Given the description of an element on the screen output the (x, y) to click on. 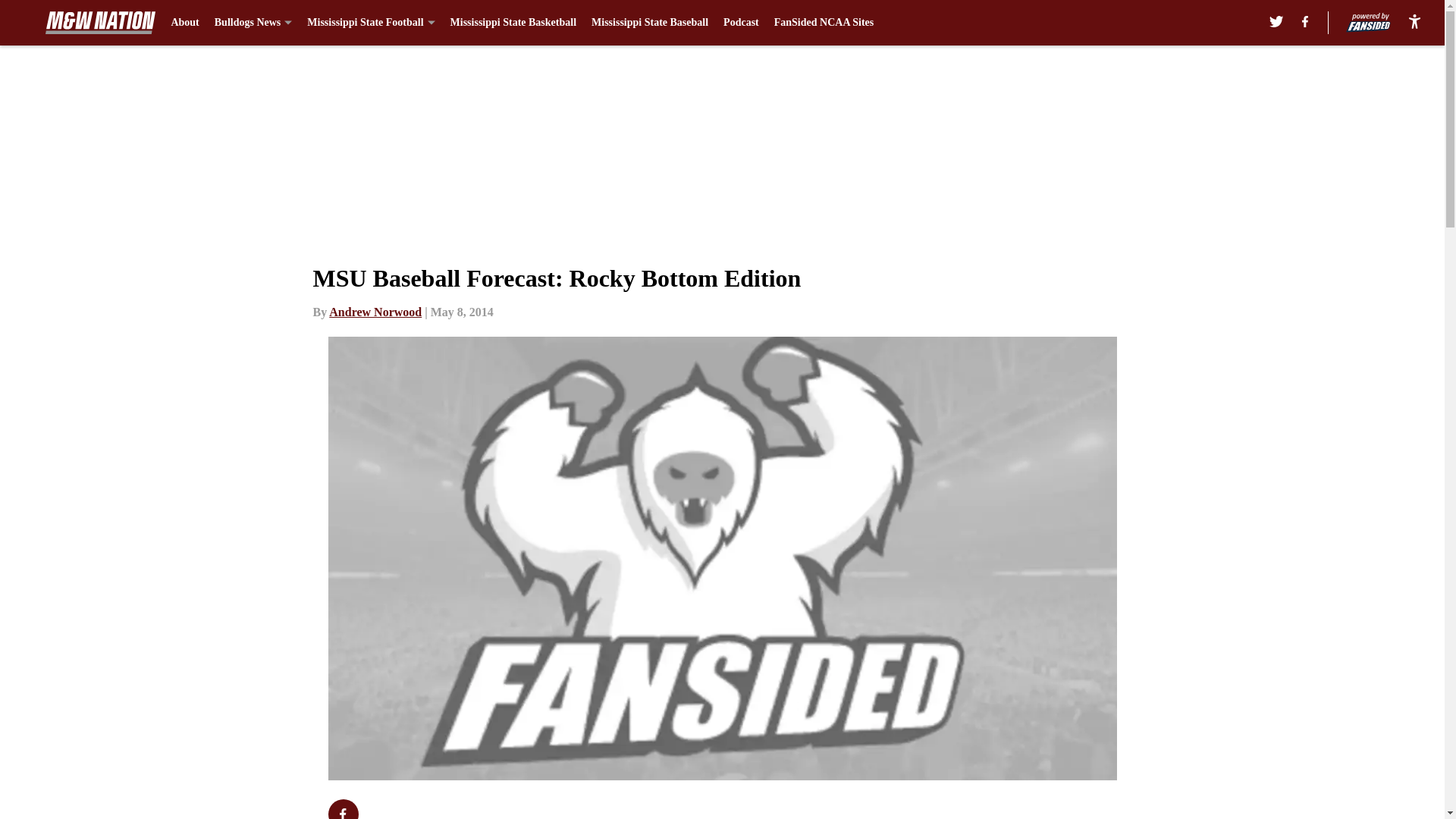
FanSided NCAA Sites (823, 22)
About (184, 22)
Podcast (740, 22)
Andrew Norwood (375, 311)
Mississippi State Basketball (512, 22)
Mississippi State Baseball (649, 22)
